Given the description of an element on the screen output the (x, y) to click on. 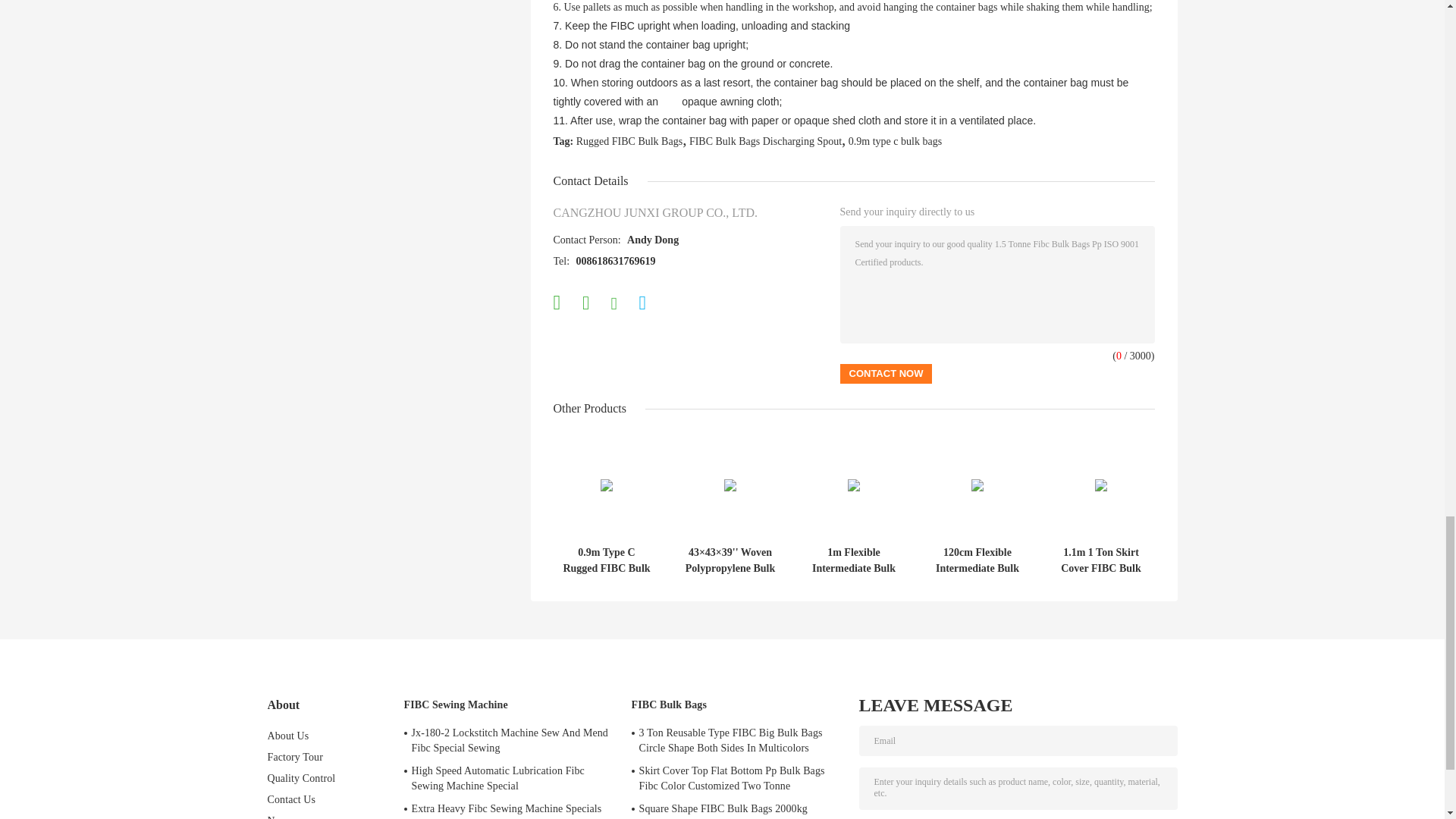
Contact Now (886, 373)
